Given the description of an element on the screen output the (x, y) to click on. 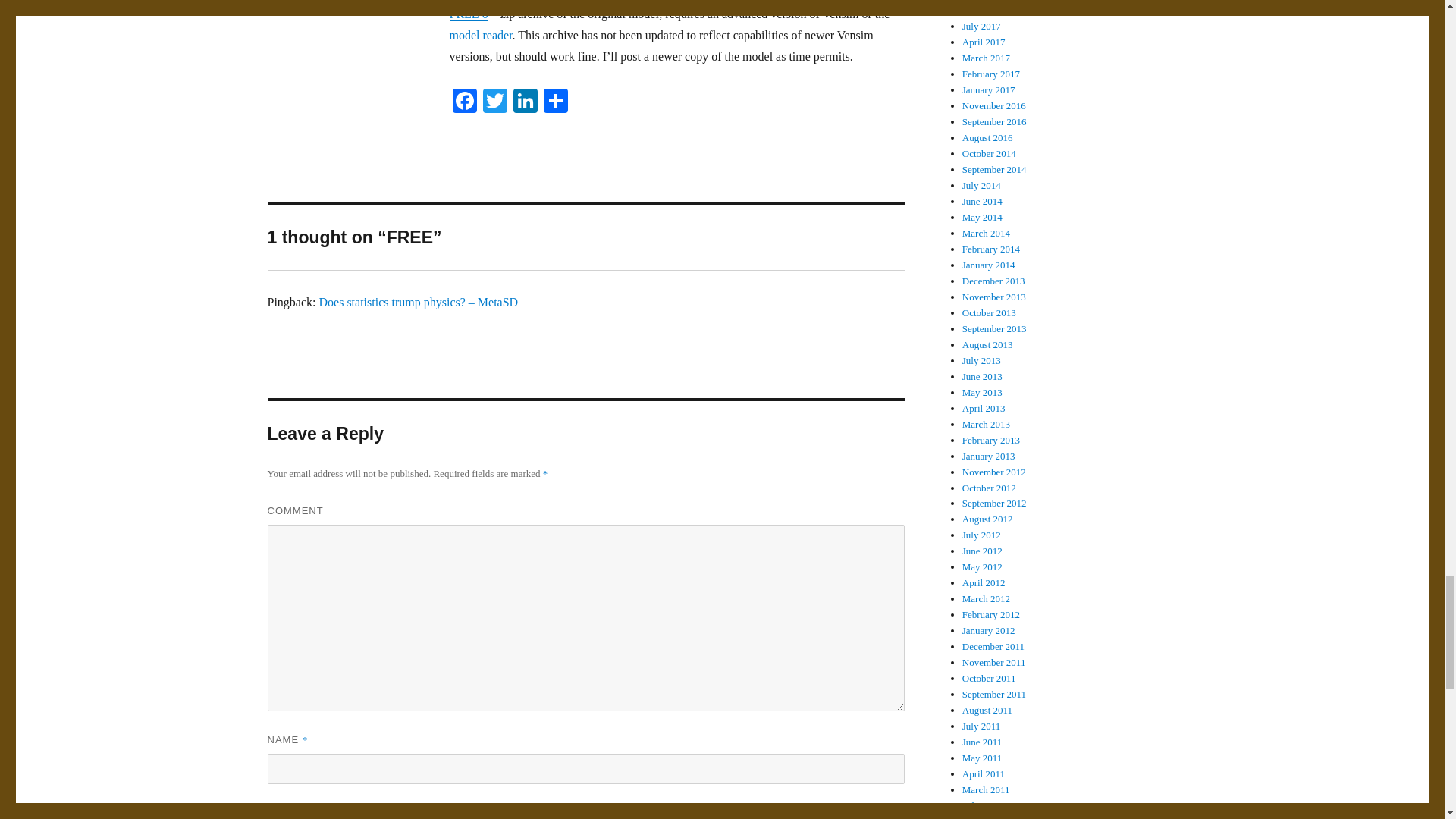
Facebook (463, 102)
Twitter (494, 102)
model reader (480, 34)
FREE 6 (467, 13)
Facebook (463, 102)
LinkedIn (524, 102)
LinkedIn (524, 102)
Twitter (494, 102)
